Given the description of an element on the screen output the (x, y) to click on. 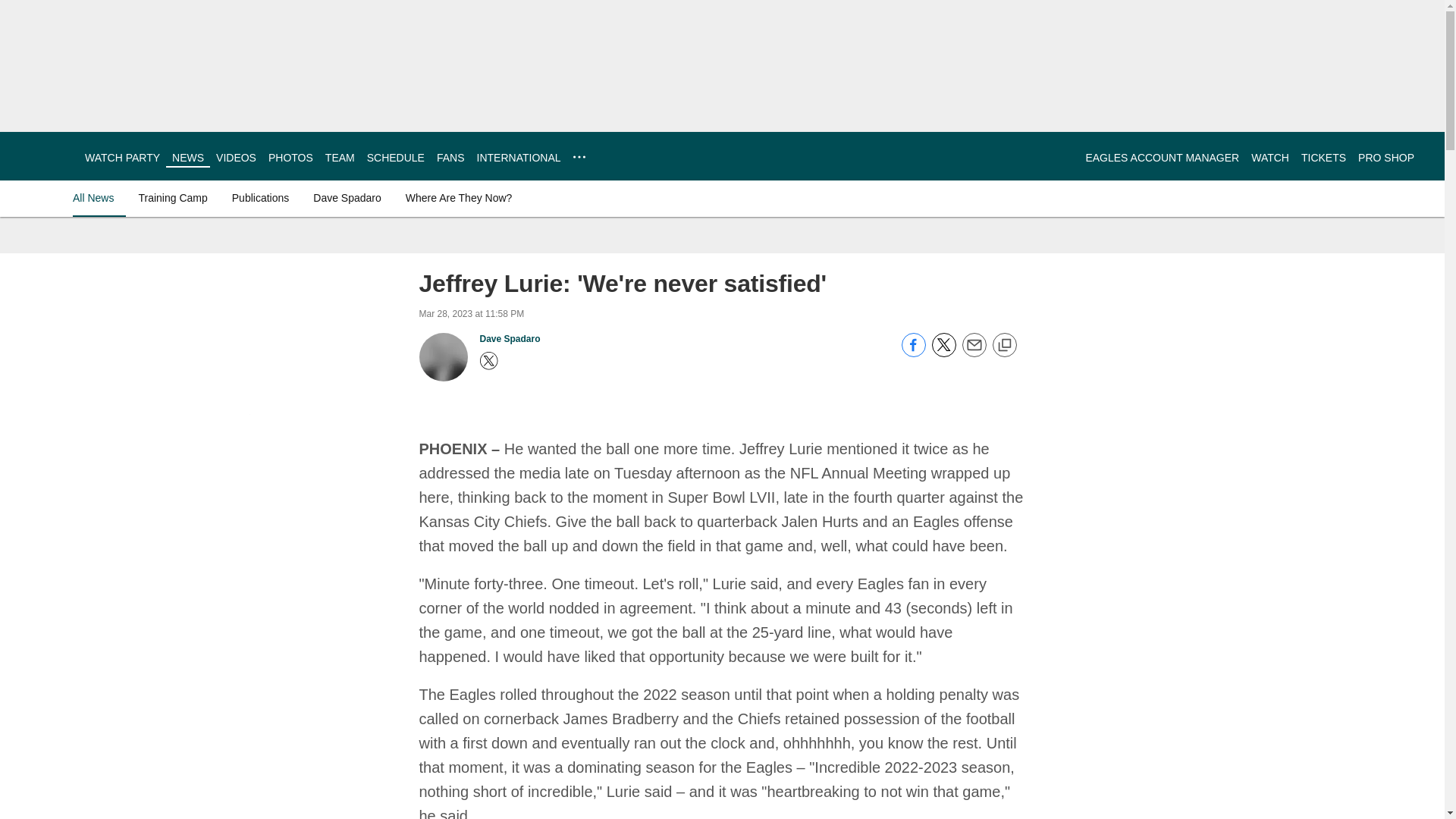
Dave Spadaro (347, 197)
TICKETS (1323, 157)
FANS (450, 157)
PHOTOS (290, 157)
PHOTOS (290, 157)
VIDEOS (235, 157)
Dave Spadaro (509, 338)
PRO SHOP (1385, 157)
WATCH PARTY (122, 157)
Link to club's homepage (42, 156)
